Given the description of an element on the screen output the (x, y) to click on. 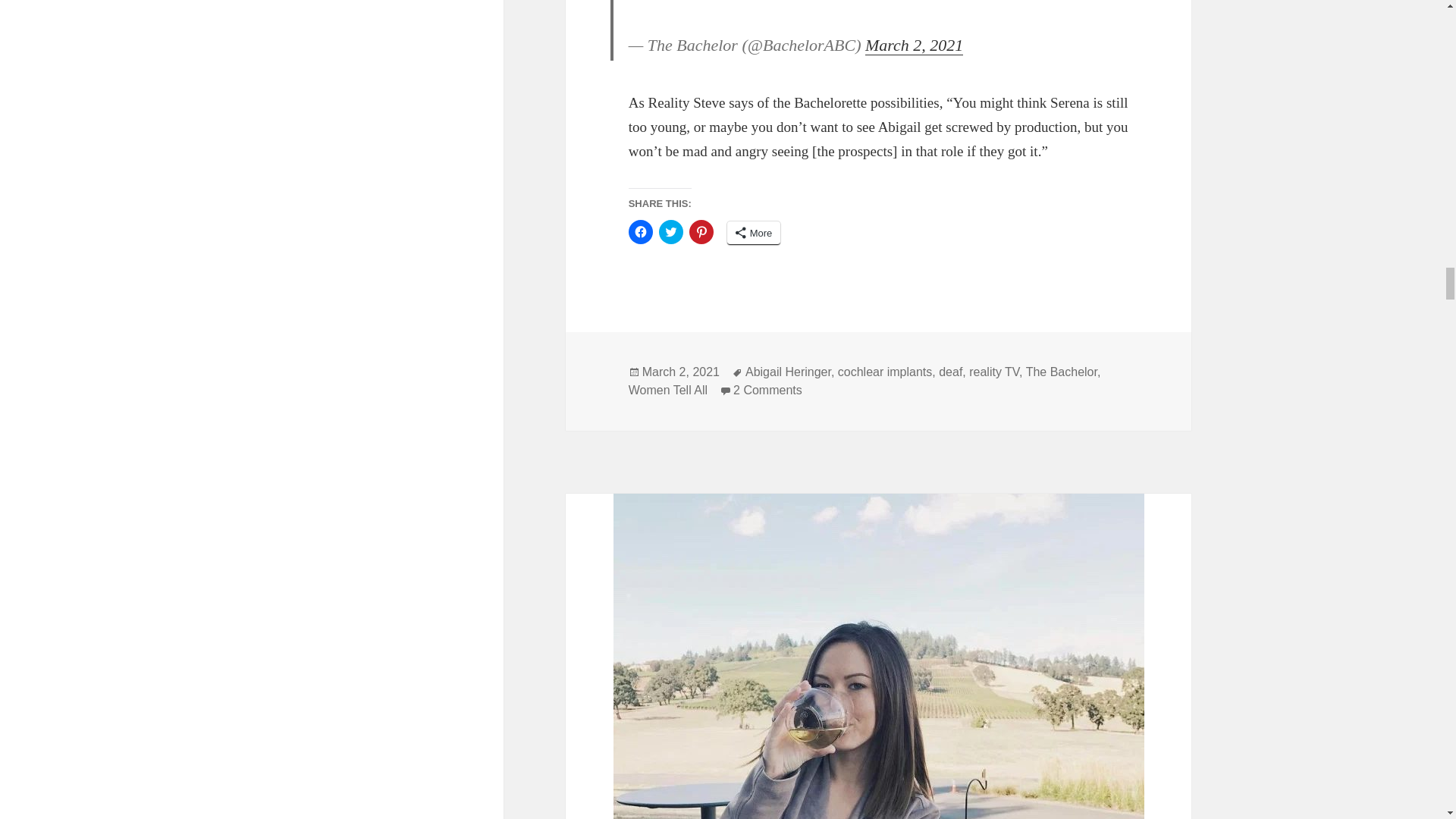
cochlear implants (885, 372)
deaf (950, 372)
Women Tell All (667, 390)
Click to share on Facebook (640, 232)
Click to share on Twitter (670, 232)
March 2, 2021 (913, 45)
The Bachelor (1061, 372)
Abigail Heringer (788, 372)
Click to share on Pinterest (700, 232)
March 2, 2021 (680, 372)
More (753, 232)
reality TV (994, 372)
